Given the description of an element on the screen output the (x, y) to click on. 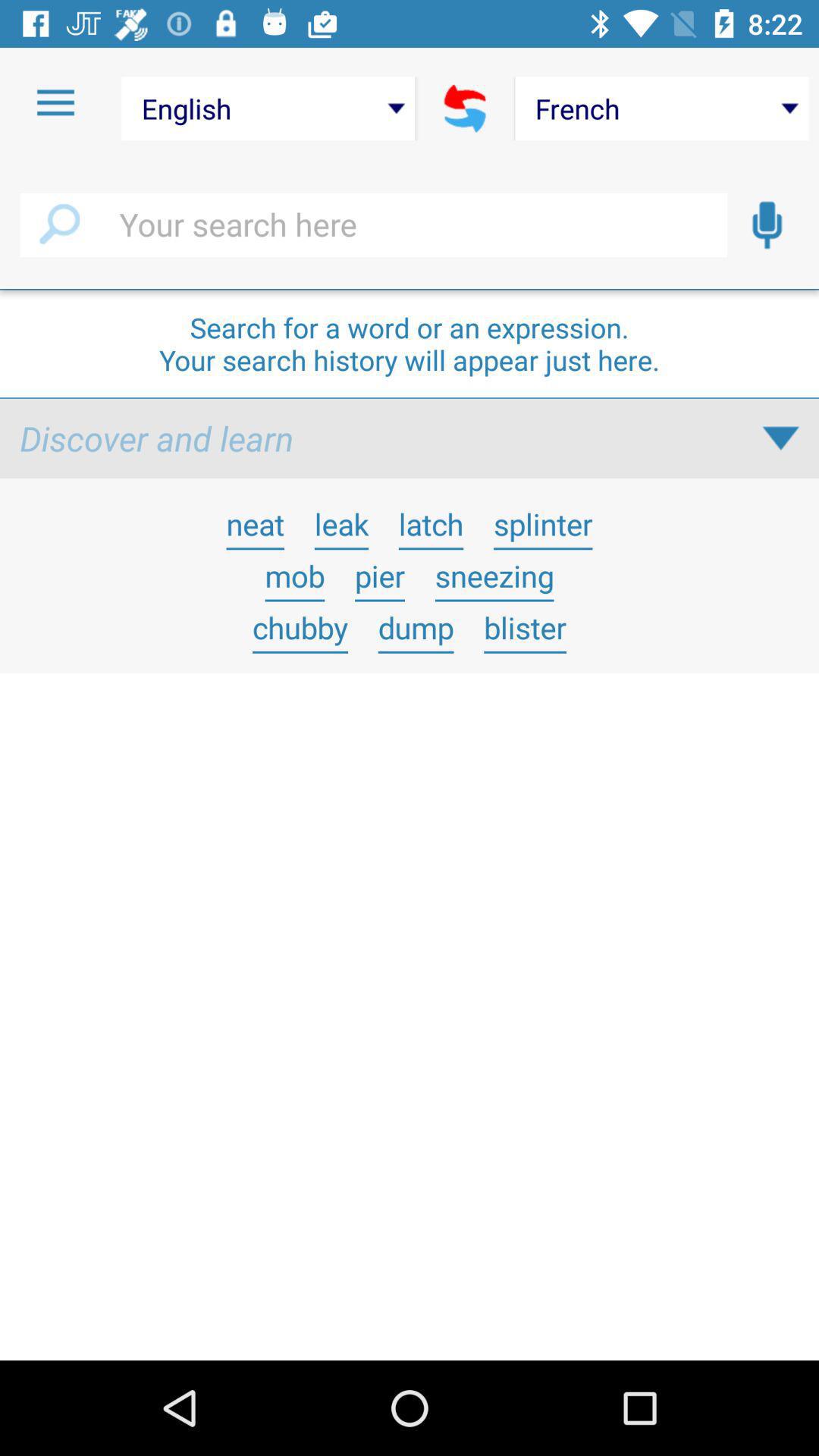
launch the icon below the search for a (780, 438)
